Given the description of an element on the screen output the (x, y) to click on. 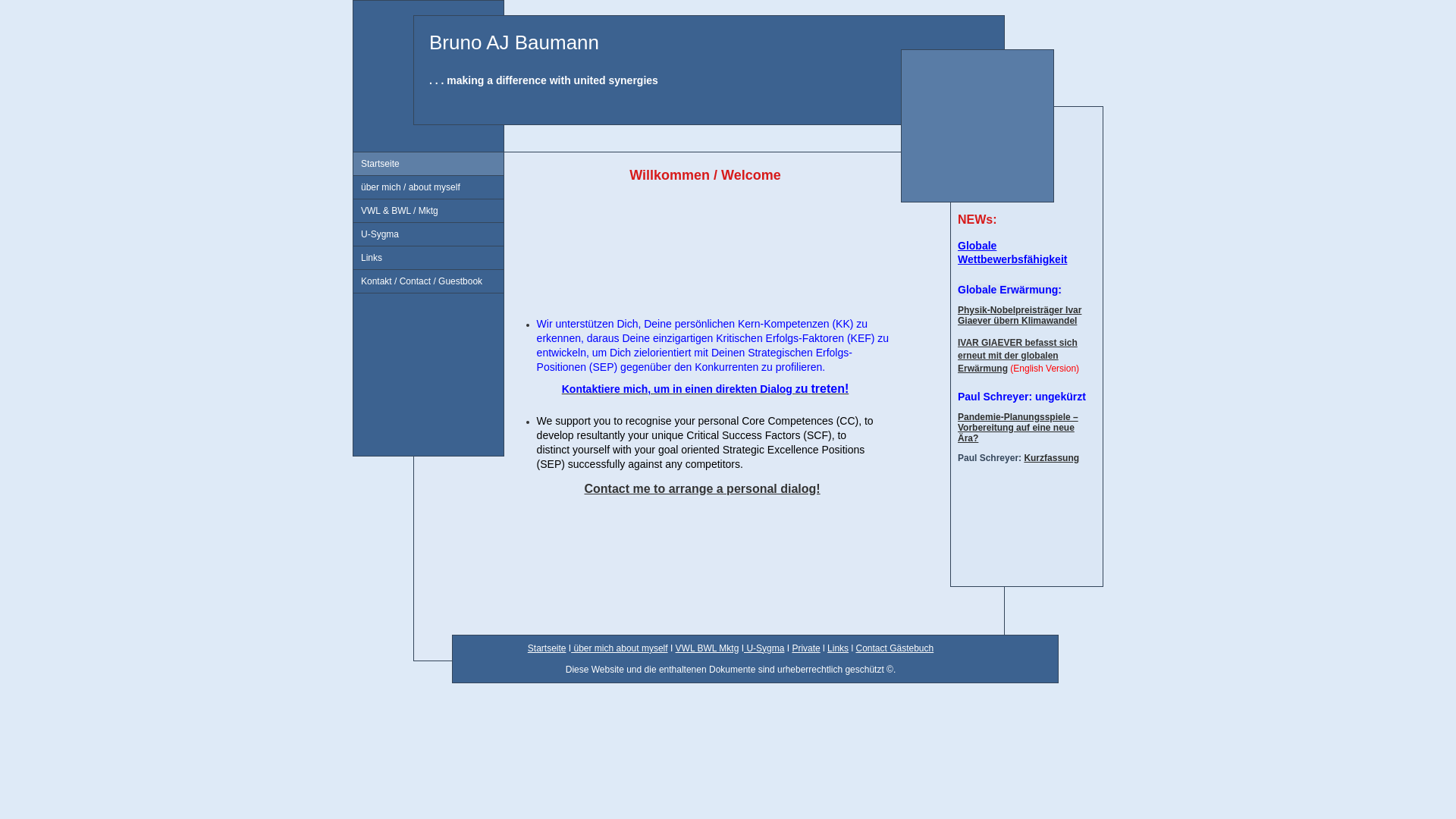
Links Element type: text (837, 648)
Startseite Element type: text (546, 648)
Kontaktiere mich, um in einen direkten Dialog zu treten! Element type: text (705, 388)
U-Sygma Element type: text (763, 648)
Private Element type: text (805, 648)
Links Element type: text (428, 257)
U-Sygma Element type: text (428, 234)
VWL & BWL / Mktg Element type: text (428, 210)
Contact me to arrange a personal dialog! Element type: text (702, 488)
VWL BWL Mktg Element type: text (707, 648)
Kurzfassung Element type: text (1051, 457)
Startseite Element type: text (428, 163)
Kontakt / Contact / Guestbook Element type: text (428, 281)
